Given the description of an element on the screen output the (x, y) to click on. 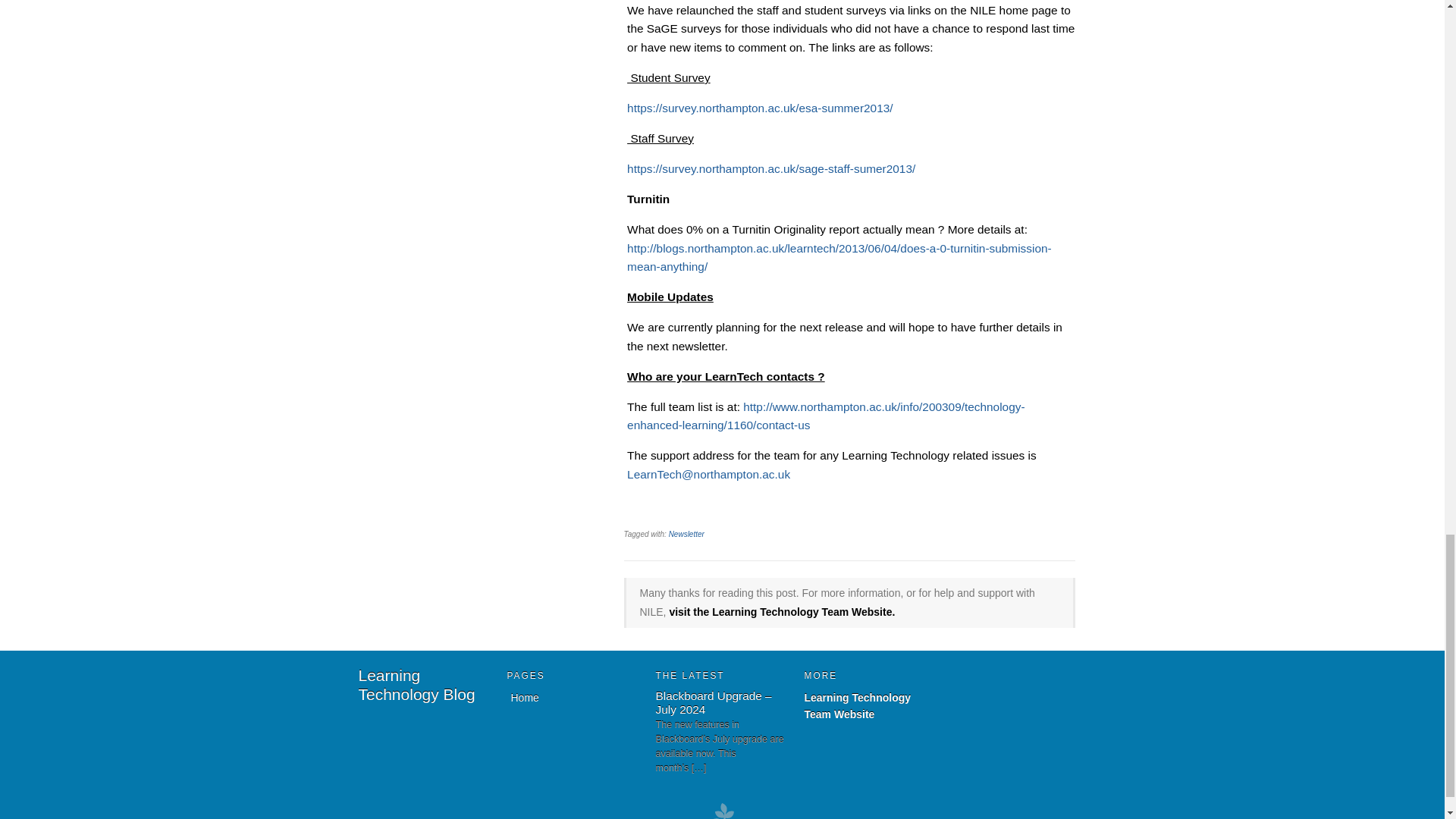
Newsletter (686, 533)
visit the Learning Technology Team Website. (781, 612)
Home (416, 684)
